Given the description of an element on the screen output the (x, y) to click on. 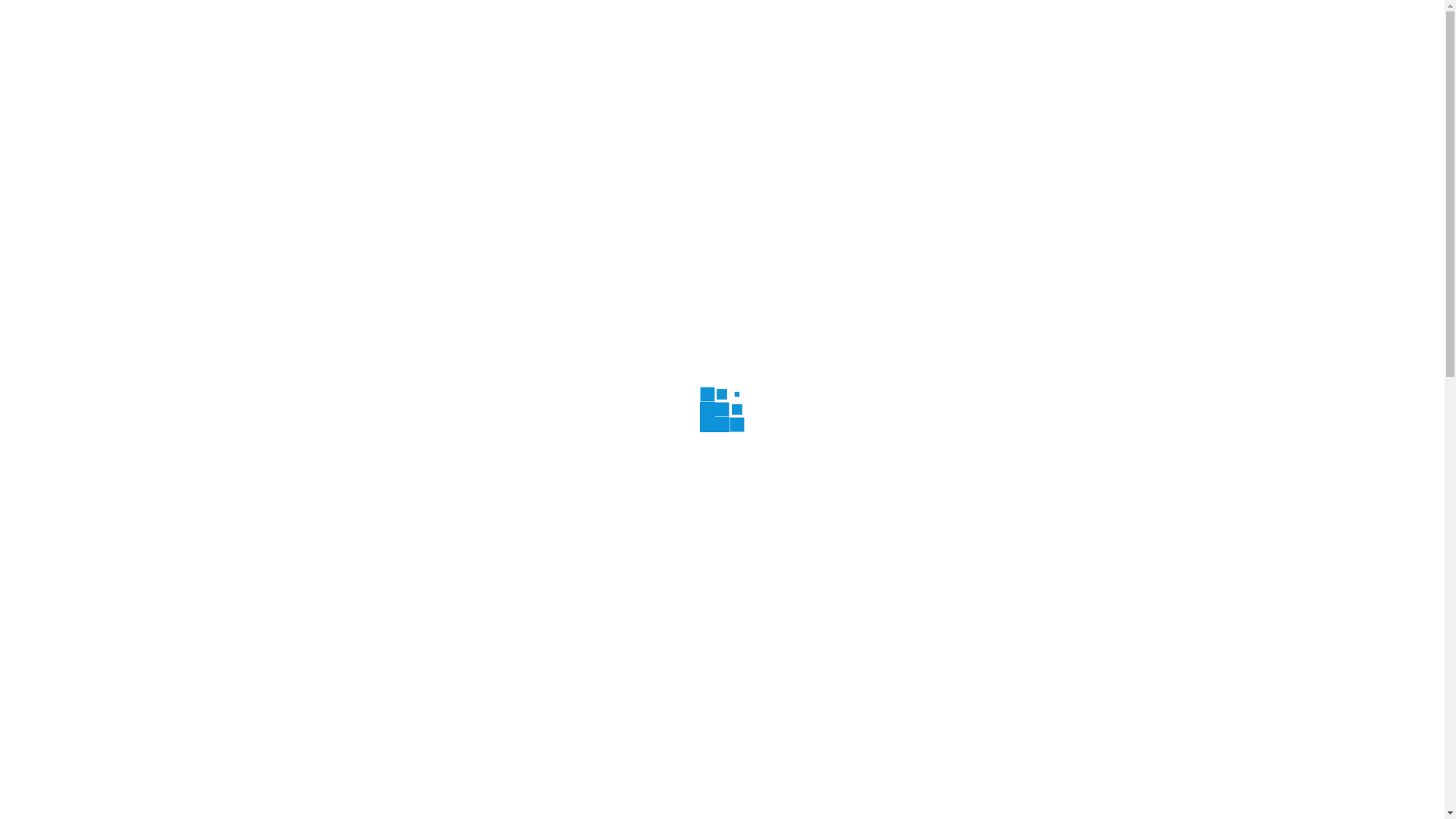
02.04.2014 Element type: text (335, 453)
Kontakt Element type: text (1033, 80)
Cjenovnik Element type: text (718, 80)
O nama Element type: text (411, 80)
Aktuelnosti Element type: text (487, 80)
Tenderi i obavijesti Element type: text (938, 80)
Online prijavnice Element type: text (812, 80)
Programi Element type: text (567, 80)
Aktuelni tenderi Element type: text (990, 792)
Prijavite se Element type: text (1104, 25)
